Given the description of an element on the screen output the (x, y) to click on. 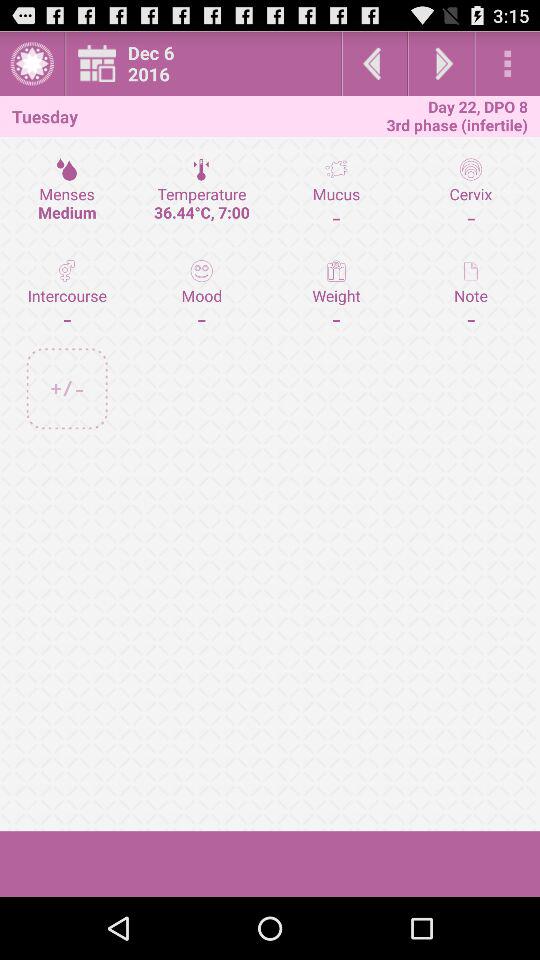
go to next (441, 63)
